Given the description of an element on the screen output the (x, y) to click on. 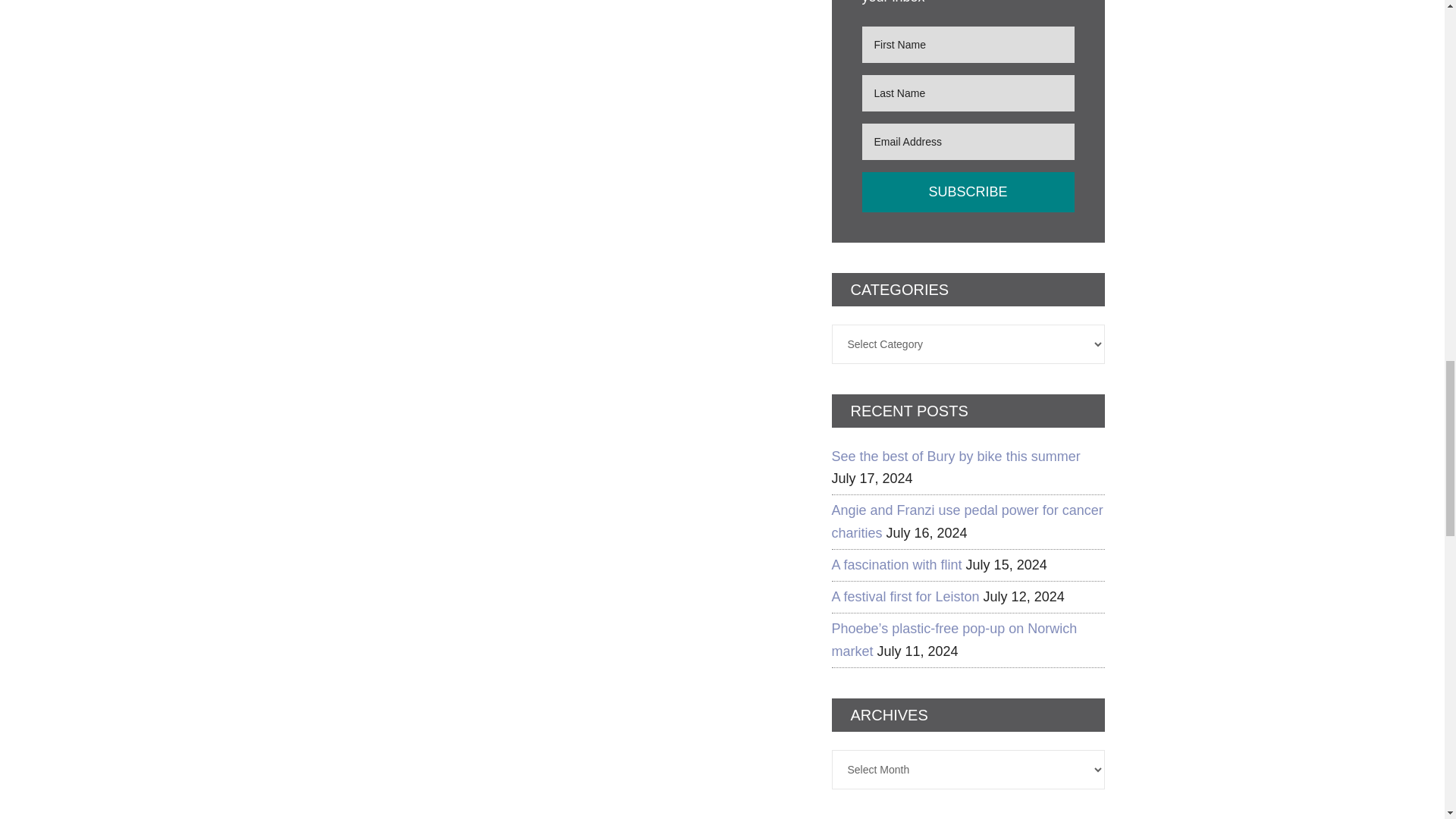
Angie and Franzi use pedal power for cancer charities (966, 520)
A festival first for Leiston (904, 596)
A fascination with flint (895, 564)
Subscribe (967, 191)
See the best of Bury by bike this summer (955, 456)
Subscribe (967, 191)
